Given the description of an element on the screen output the (x, y) to click on. 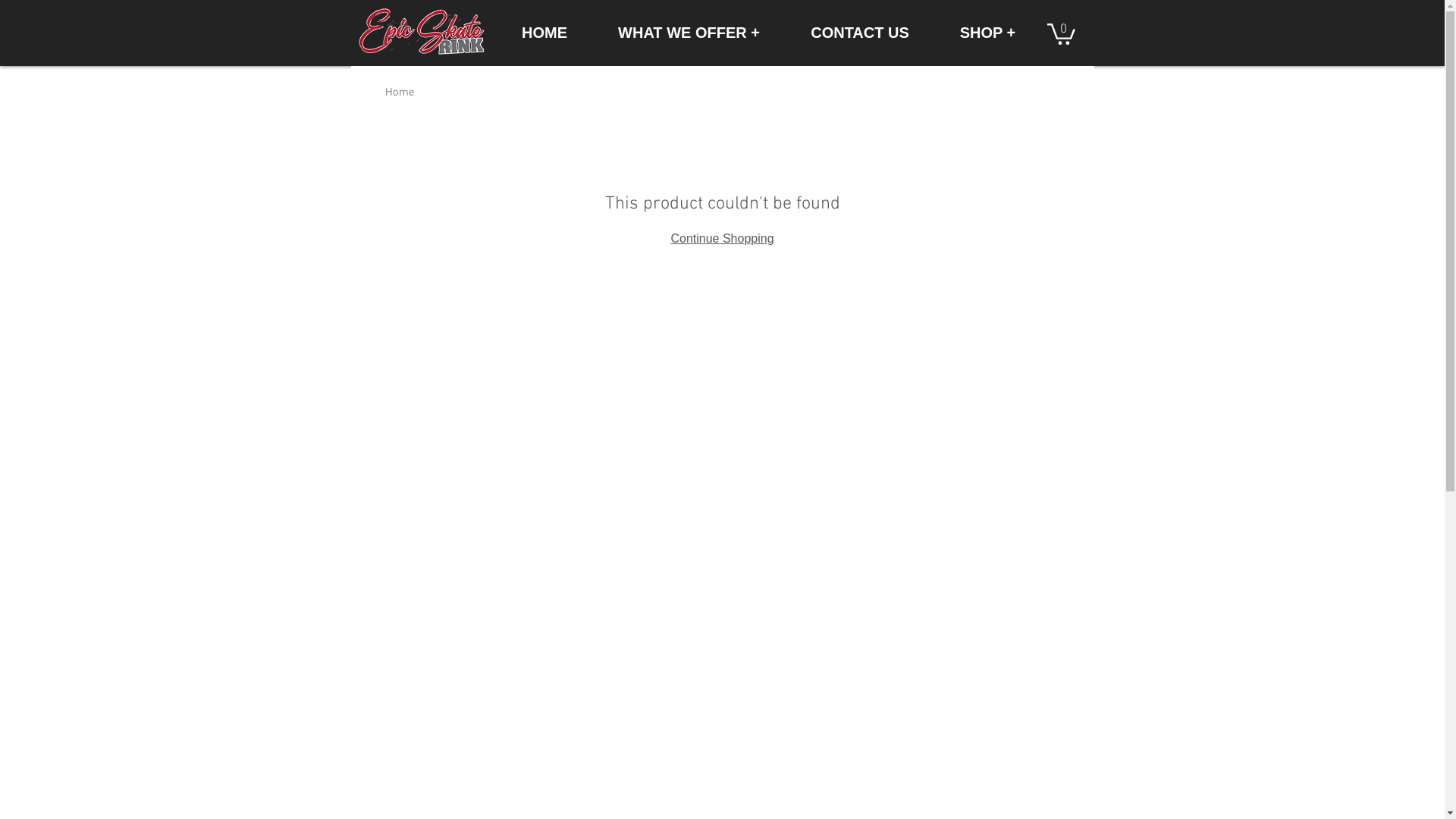
HOME Element type: text (543, 32)
Home Element type: text (399, 92)
Continue Shopping Element type: text (721, 238)
SHOP + Element type: text (987, 32)
0 Element type: text (1060, 32)
CONTACT US Element type: text (860, 32)
